Given the description of an element on the screen output the (x, y) to click on. 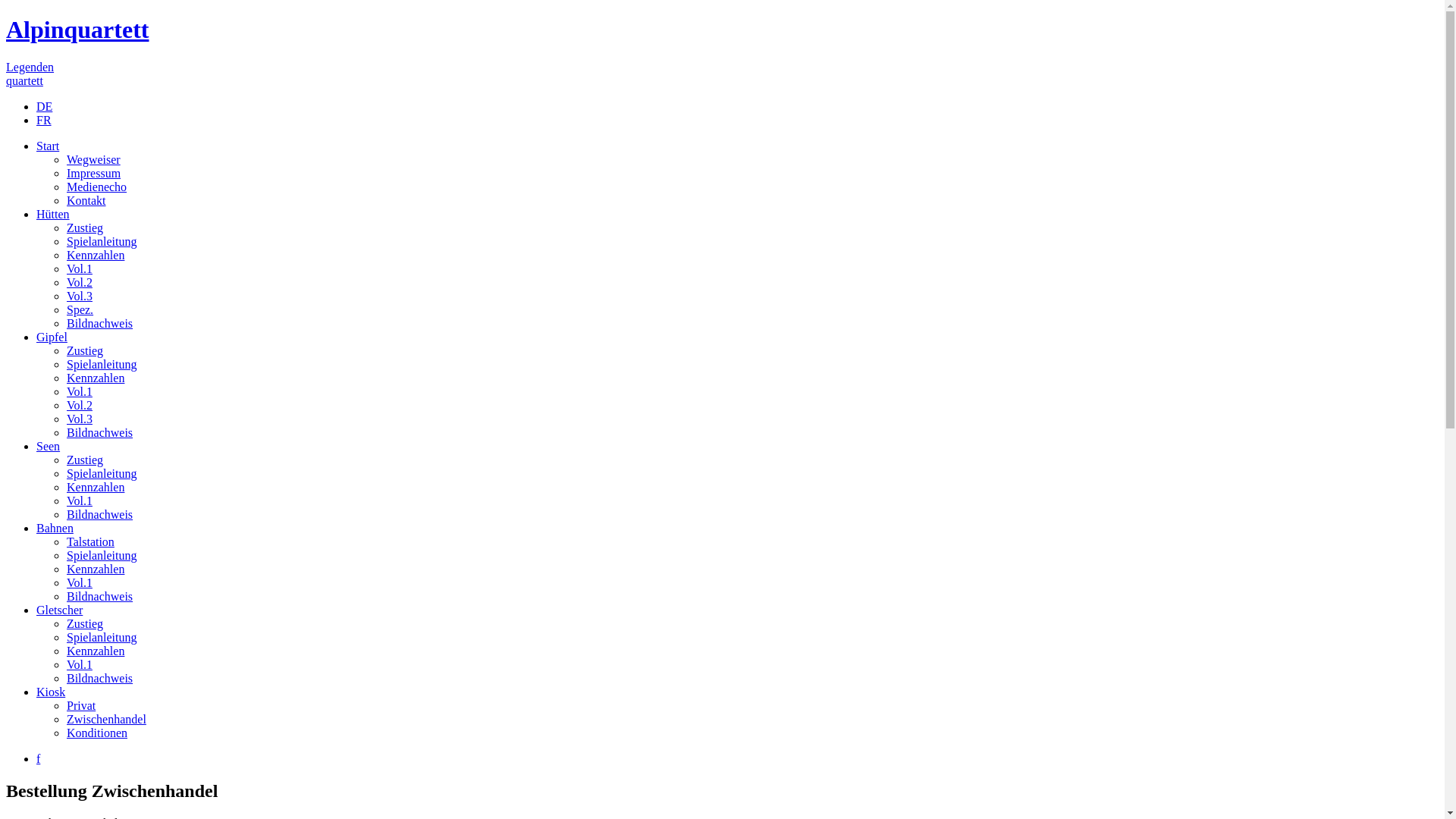
Vol.3 Element type: text (79, 418)
Seen Element type: text (47, 445)
f Element type: text (38, 758)
DE Element type: text (44, 106)
Spielanleitung Element type: text (101, 555)
Gipfel Element type: text (51, 336)
Bildnachweis Element type: text (99, 514)
Vol.1 Element type: text (79, 391)
Vol.2 Element type: text (79, 282)
Bildnachweis Element type: text (99, 322)
Kontakt Element type: text (86, 200)
Vol.1 Element type: text (79, 268)
Kennzahlen Element type: text (95, 568)
Spielanleitung Element type: text (101, 363)
Kennzahlen Element type: text (95, 650)
Privat Element type: text (80, 705)
FR Element type: text (43, 119)
Spielanleitung Element type: text (101, 473)
Alpinquartett Element type: text (77, 29)
Zustieg Element type: text (84, 350)
Bildnachweis Element type: text (99, 677)
Kennzahlen Element type: text (95, 486)
Zustieg Element type: text (84, 459)
Wegweiser Element type: text (93, 159)
Bildnachweis Element type: text (99, 432)
Zustieg Element type: text (84, 227)
Kennzahlen Element type: text (95, 254)
Vol.3 Element type: text (79, 295)
Kiosk Element type: text (50, 691)
Vol.1 Element type: text (79, 664)
Start Element type: text (47, 145)
Zustieg Element type: text (84, 623)
Vol.1 Element type: text (79, 500)
Legenden
quartett Element type: text (29, 73)
Bahnen Element type: text (54, 527)
Impressum Element type: text (93, 172)
Kennzahlen Element type: text (95, 377)
Spielanleitung Element type: text (101, 241)
Spez. Element type: text (79, 309)
Vol.2 Element type: text (79, 404)
Zwischenhandel Element type: text (106, 718)
Bildnachweis Element type: text (99, 595)
Konditionen Element type: text (96, 732)
Medienecho Element type: text (96, 186)
Vol.1 Element type: text (79, 582)
Gletscher Element type: text (59, 609)
Spielanleitung Element type: text (101, 636)
Talstation Element type: text (90, 541)
